Given the description of an element on the screen output the (x, y) to click on. 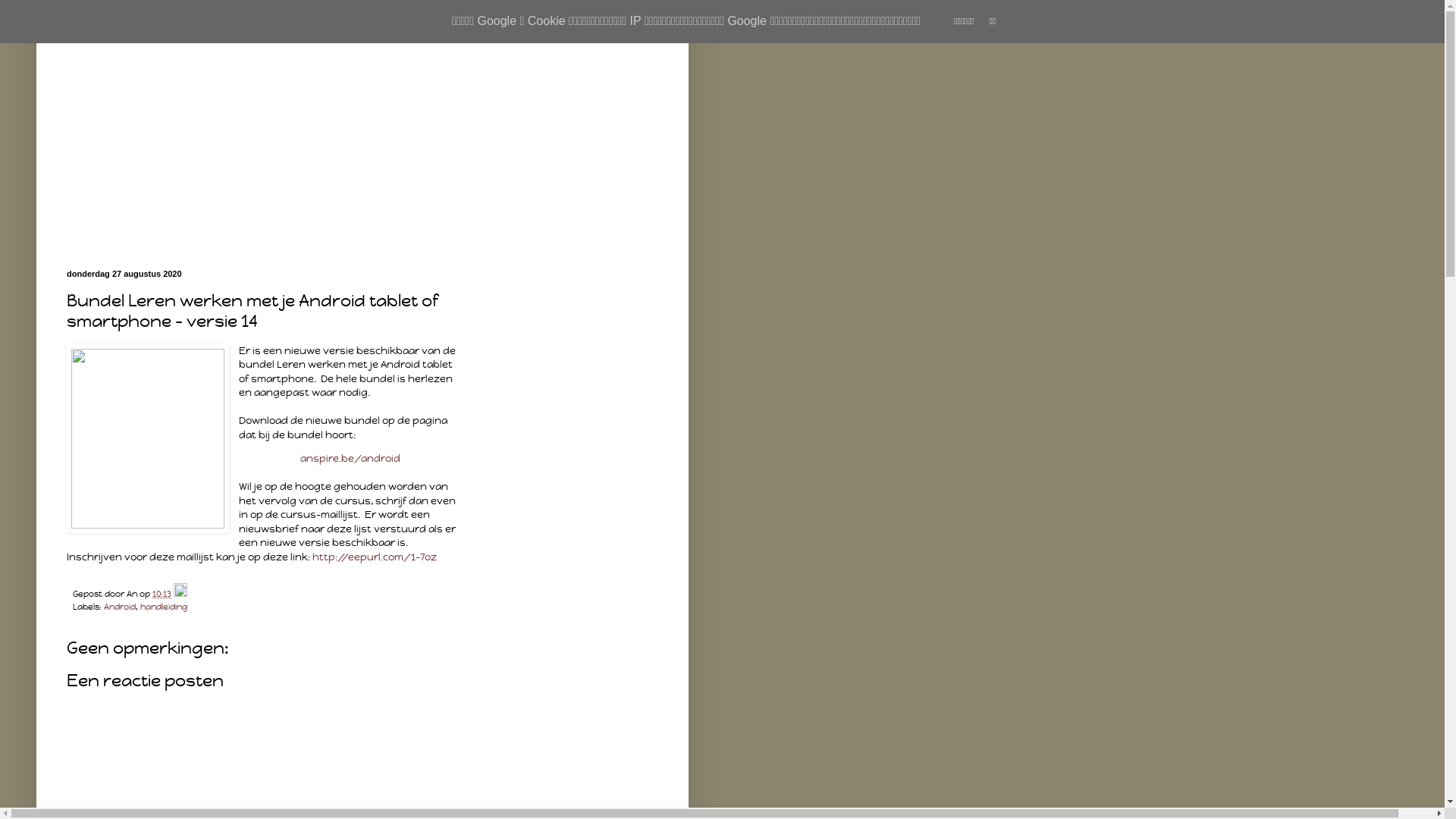
10:13 Element type: text (161, 593)
handleiding Element type: text (163, 606)
anspire.be/android Element type: text (350, 457)
Post bewerken Element type: hover (180, 593)
http://eepurl.com/1-7oz Element type: text (374, 556)
Android Element type: text (119, 606)
